Given the description of an element on the screen output the (x, y) to click on. 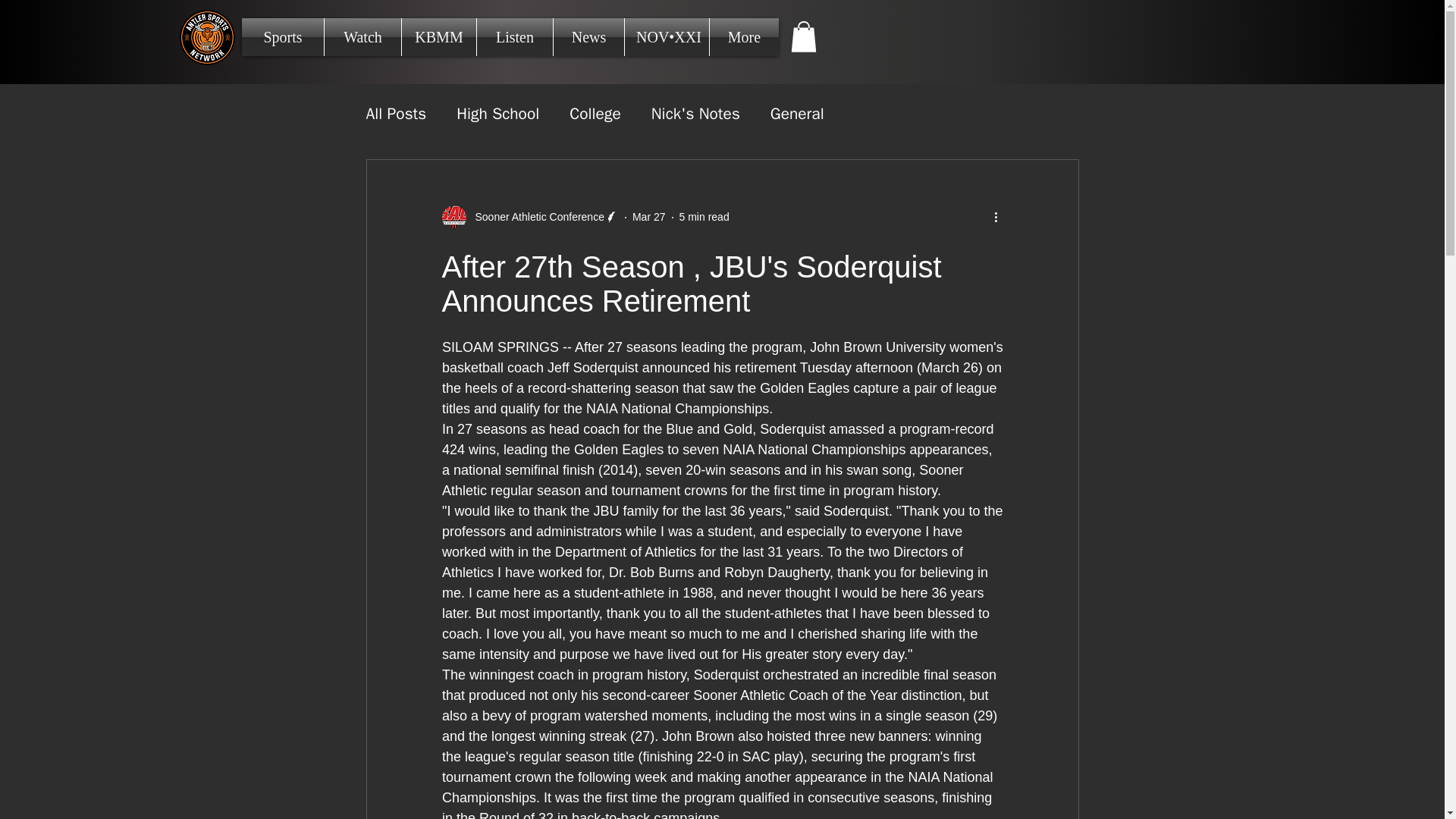
Watch (362, 37)
Sooner Athletic Conference (534, 217)
General (797, 113)
KBMM (438, 37)
Mar 27 (648, 216)
High School (497, 113)
News (588, 37)
College (595, 113)
Nick's Notes (694, 113)
5 min read (704, 216)
Listen (515, 37)
All Posts (395, 113)
Sooner Athletic Conference (529, 217)
